Given the description of an element on the screen output the (x, y) to click on. 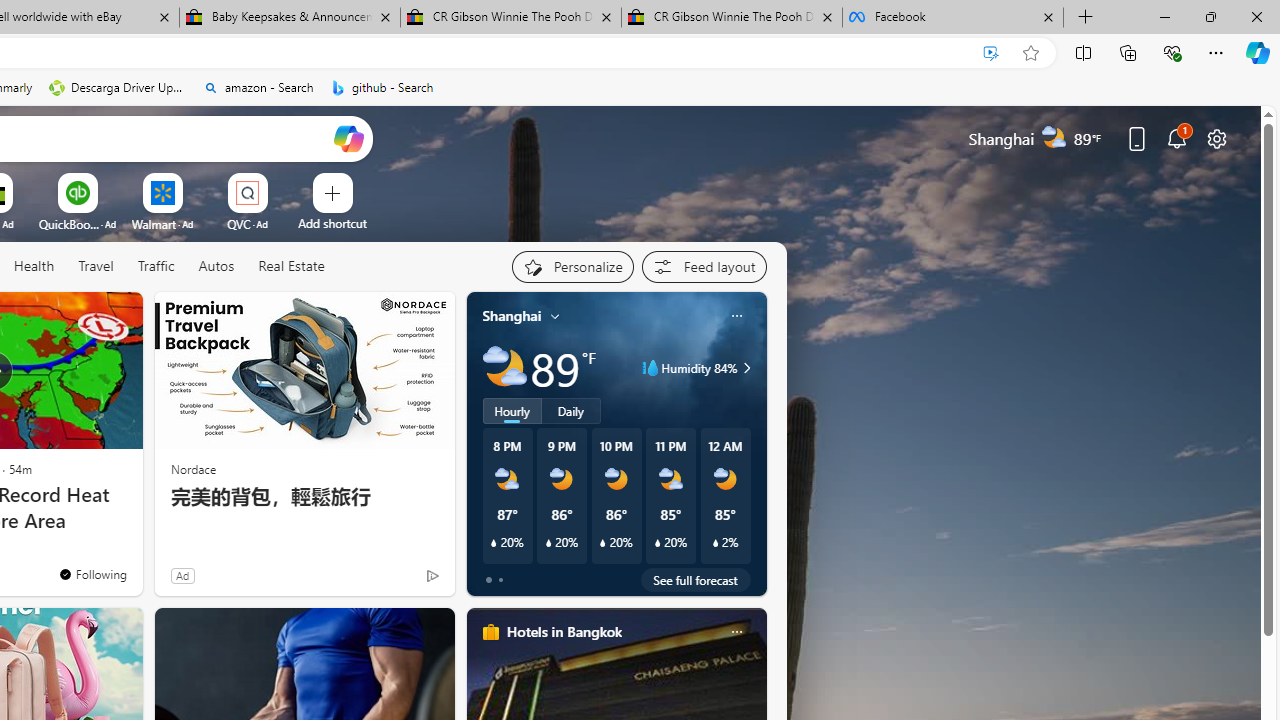
github - Search (381, 88)
Enhance video (991, 53)
Real Estate (291, 265)
Collections (1128, 52)
You're following The Weather Channel (92, 573)
See more (118, 315)
See full forecast (695, 579)
Traffic (155, 265)
Open Copilot (347, 138)
